Given the description of an element on the screen output the (x, y) to click on. 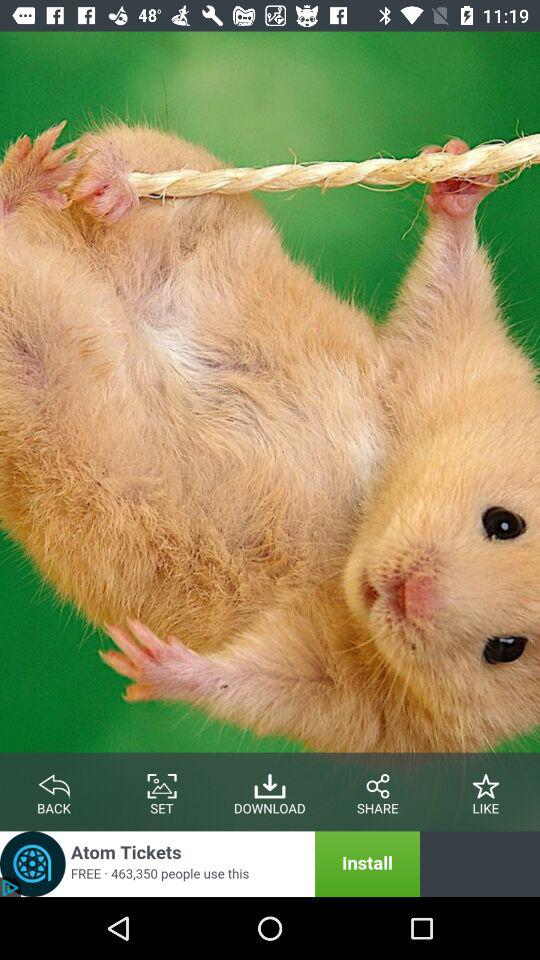
click the advertisement (210, 864)
